Given the description of an element on the screen output the (x, y) to click on. 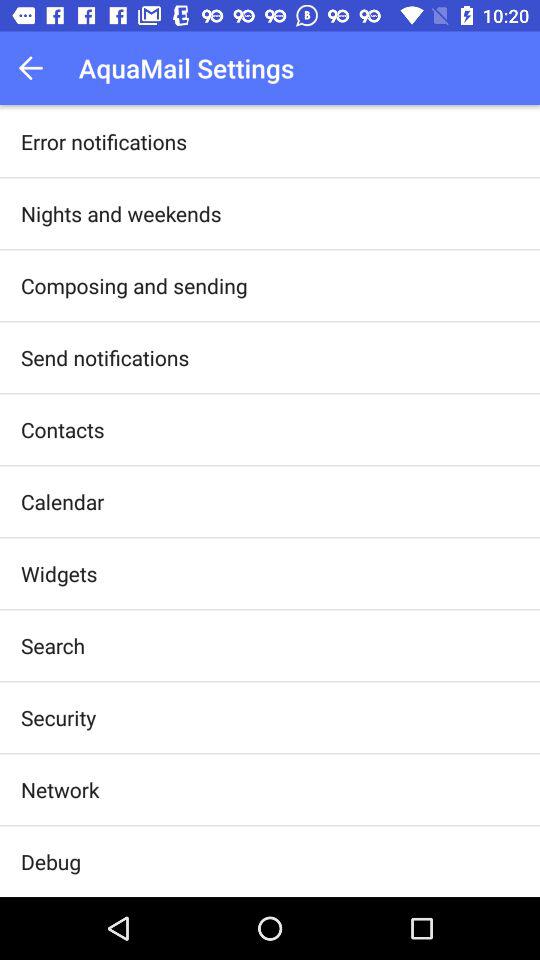
flip until contacts app (62, 429)
